Given the description of an element on the screen output the (x, y) to click on. 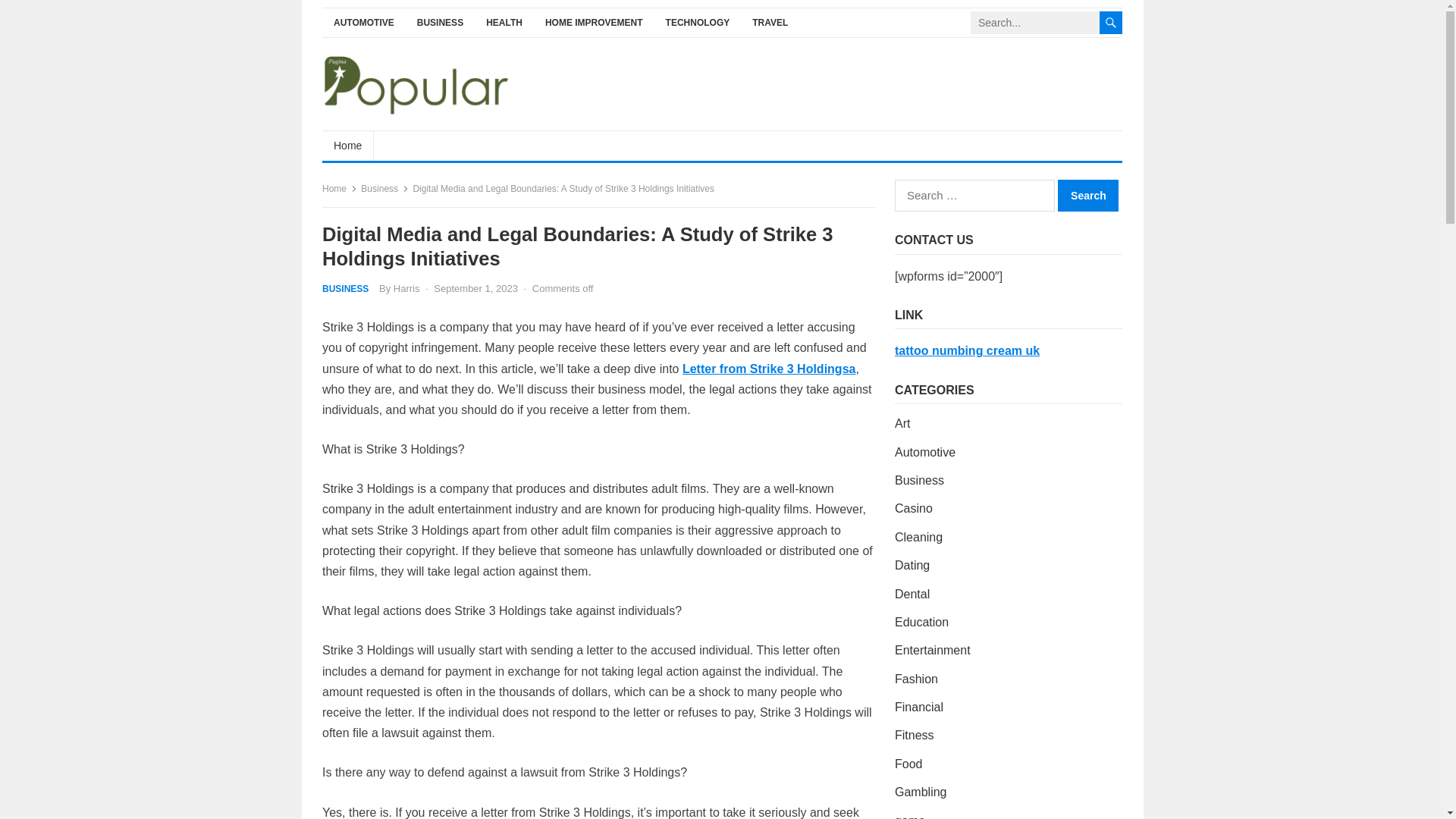
Search (1088, 195)
Search (1088, 195)
TECHNOLOGY (697, 22)
Home (347, 145)
Business (385, 188)
BUSINESS (440, 22)
BUSINESS (344, 288)
TRAVEL (770, 22)
Letter from Strike 3 Holdingsa (769, 368)
Harris (406, 288)
HOME IMPROVEMENT (593, 22)
Posts by Harris (406, 288)
Home (338, 188)
HEALTH (504, 22)
AUTOMOTIVE (363, 22)
